Given the description of an element on the screen output the (x, y) to click on. 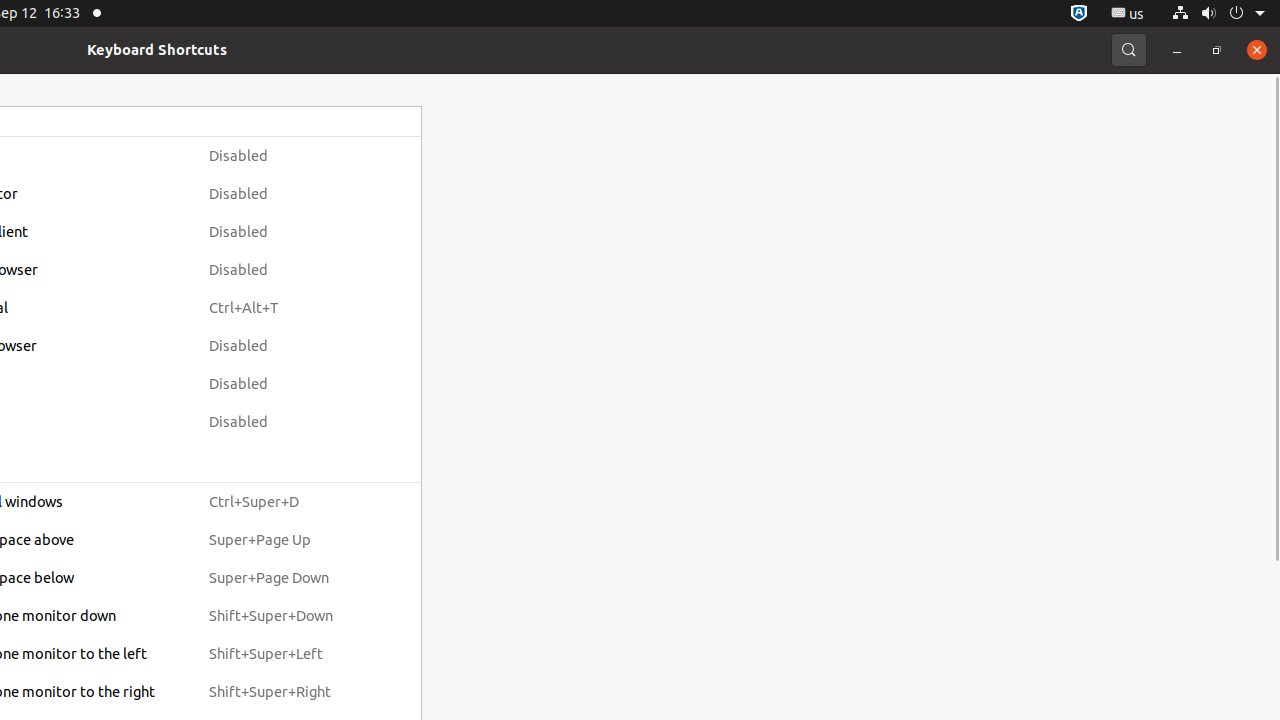
Shift+Super+Right Element type: label (289, 692)
Restore Element type: push-button (1217, 50)
Disabled Element type: label (289, 156)
Shift+Super+Down Element type: label (289, 616)
